Given the description of an element on the screen output the (x, y) to click on. 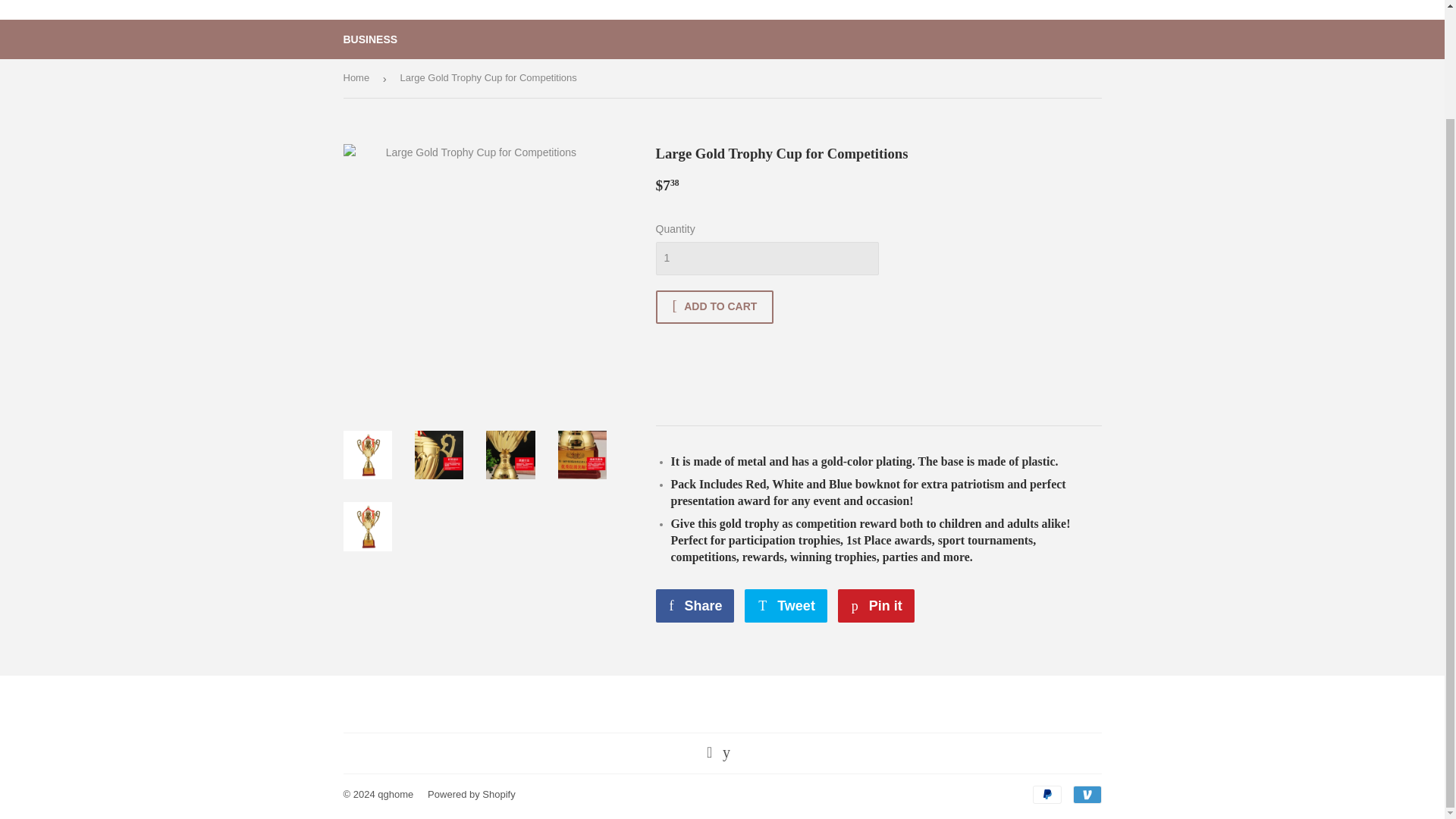
Share on Facebook (694, 605)
Venmo (1085, 794)
Powered by Shopify (471, 794)
PayPal (876, 605)
ADD TO CART (1046, 794)
qghome (714, 306)
Tweet on Twitter (785, 605)
1 (395, 794)
BUSINESS (785, 605)
Pin on Pinterest (766, 258)
